Given the description of an element on the screen output the (x, y) to click on. 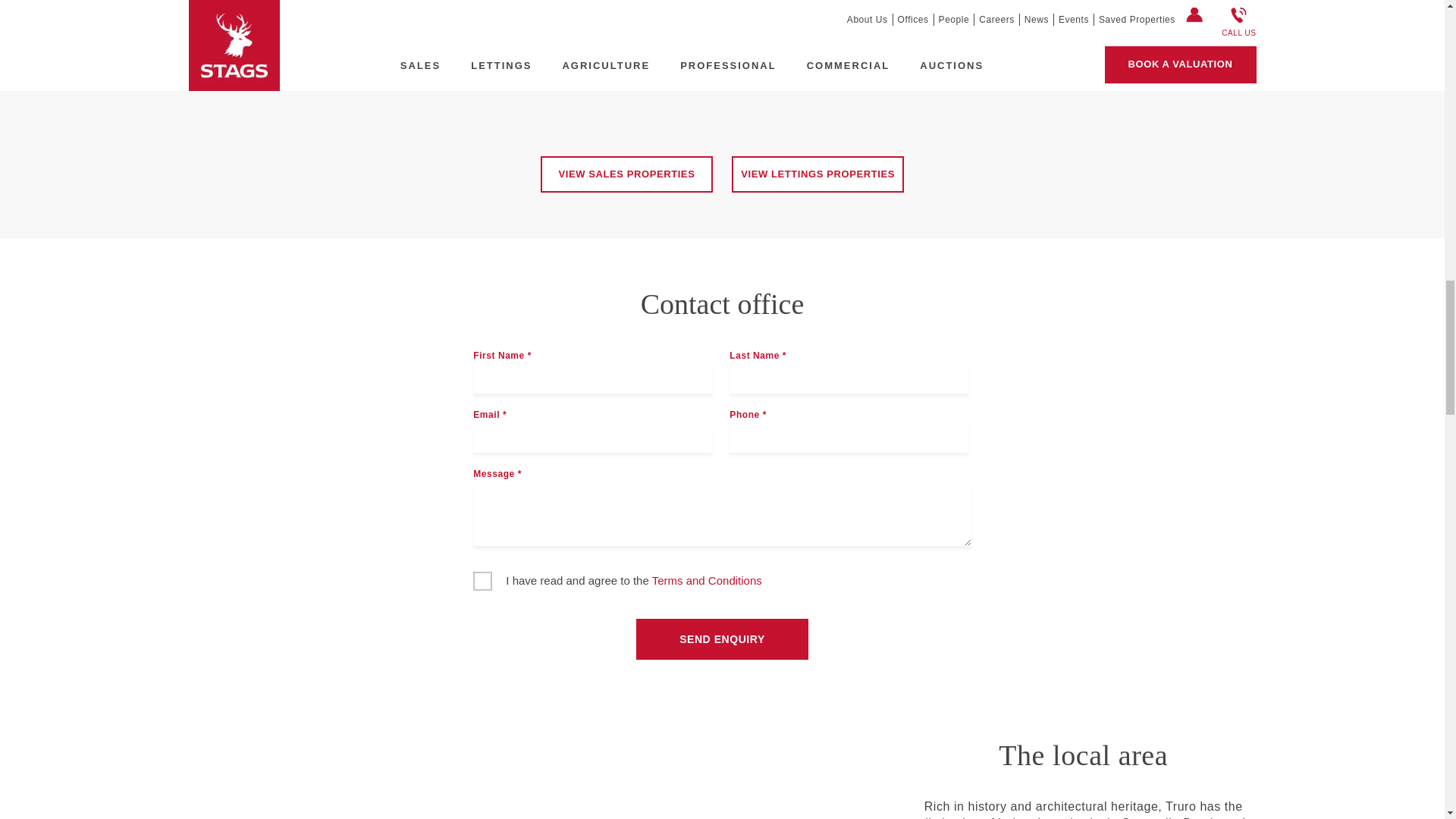
on (482, 579)
